Given the description of an element on the screen output the (x, y) to click on. 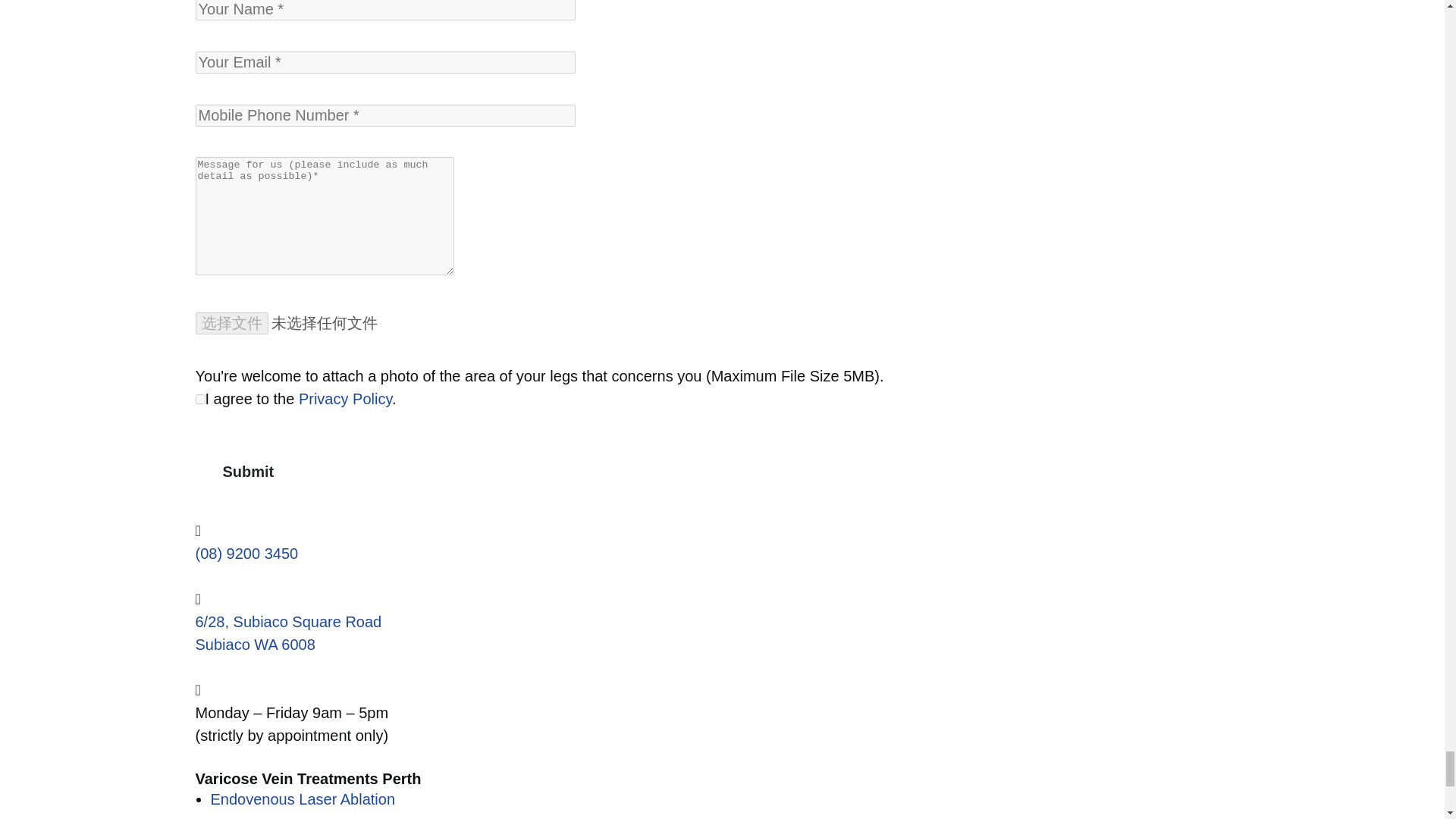
1 (200, 398)
Submit (248, 471)
